Given the description of an element on the screen output the (x, y) to click on. 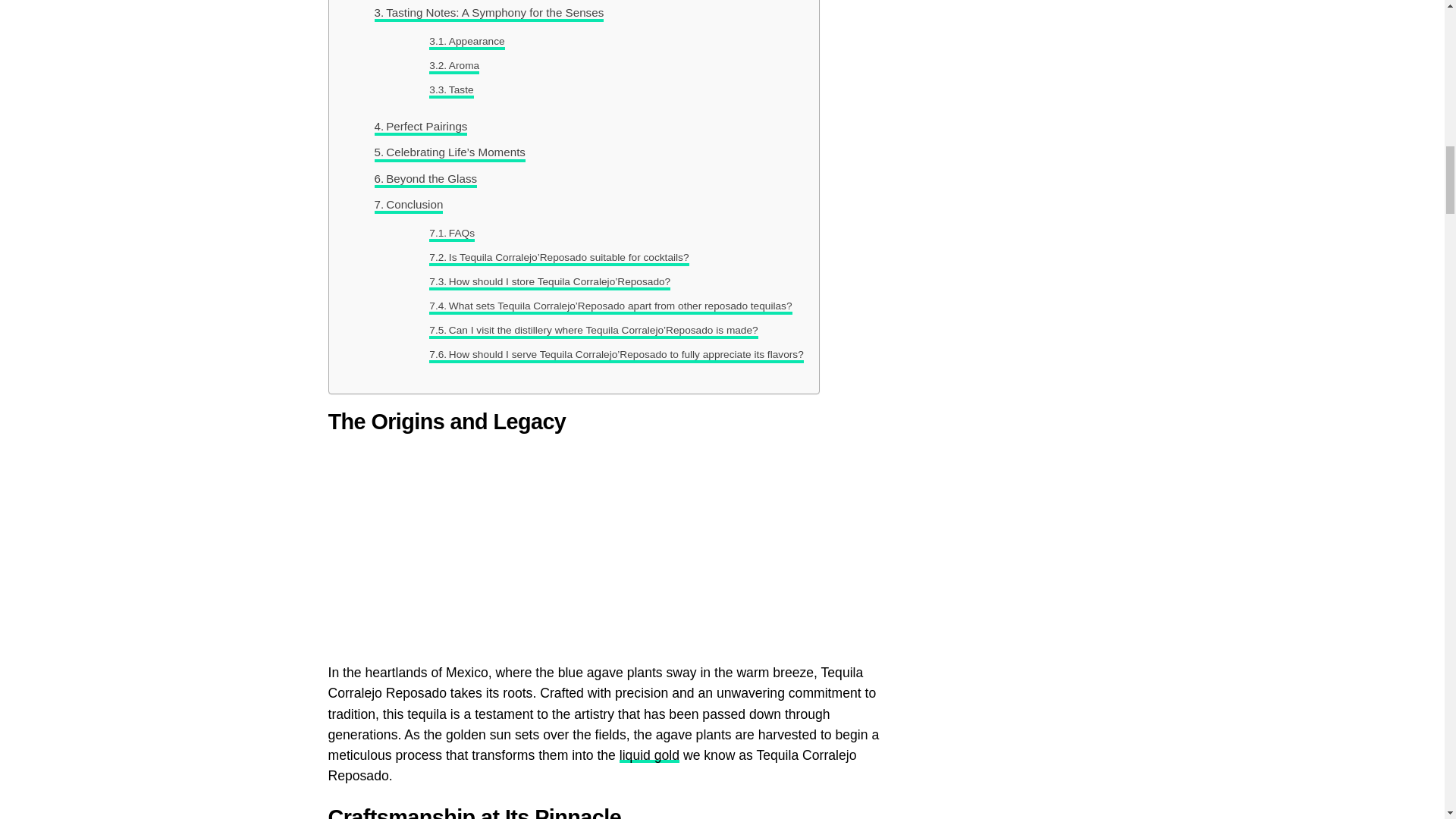
FAQs (451, 233)
Aroma (454, 65)
Tasting Notes: A Symphony for the Senses (489, 13)
Conclusion (409, 204)
Perfect Pairings (420, 126)
Beyond the Glass (425, 178)
Appearance (466, 41)
Taste (451, 89)
